Given the description of an element on the screen output the (x, y) to click on. 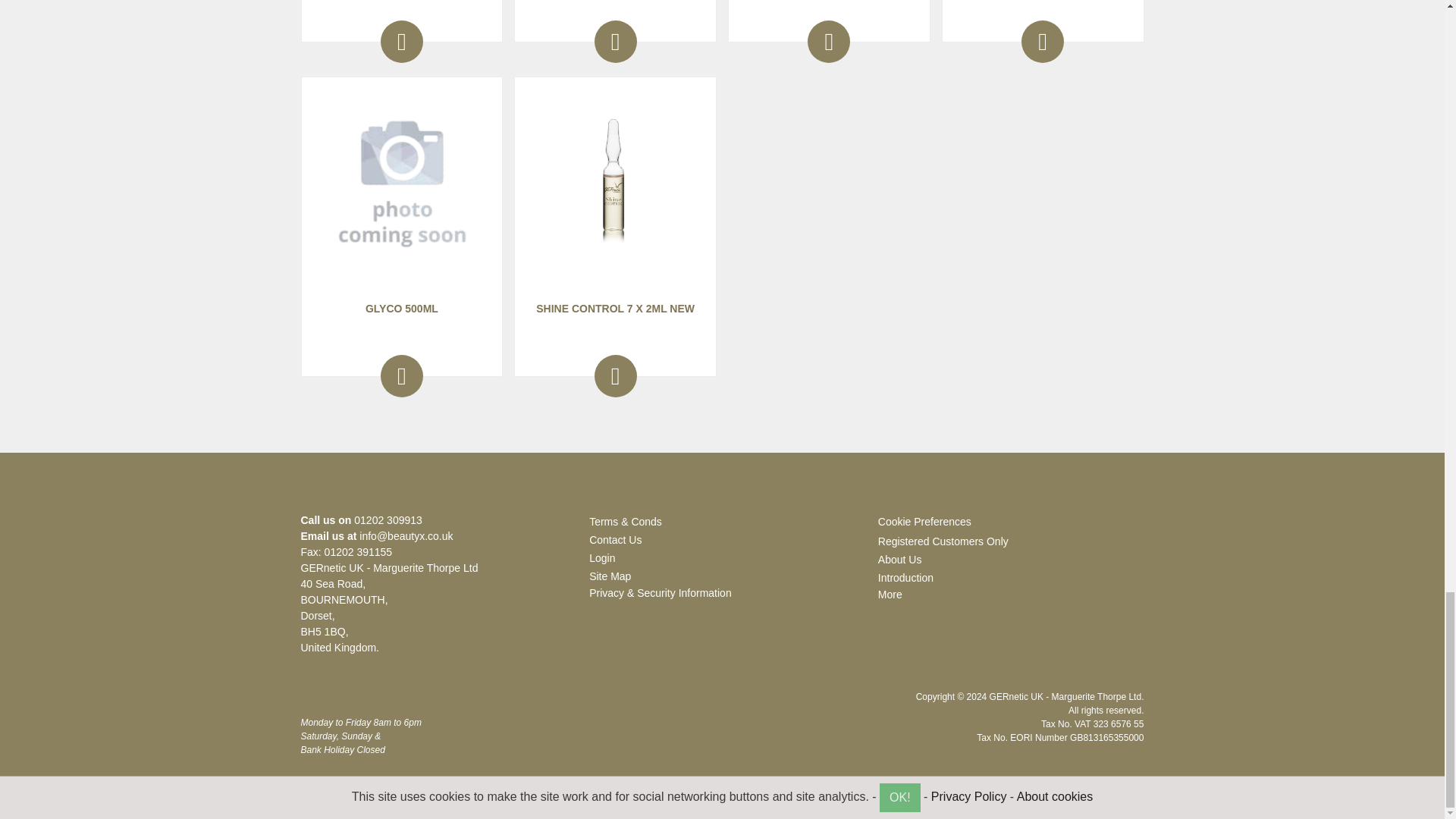
Glyco 500ml  (401, 183)
